Given the description of an element on the screen output the (x, y) to click on. 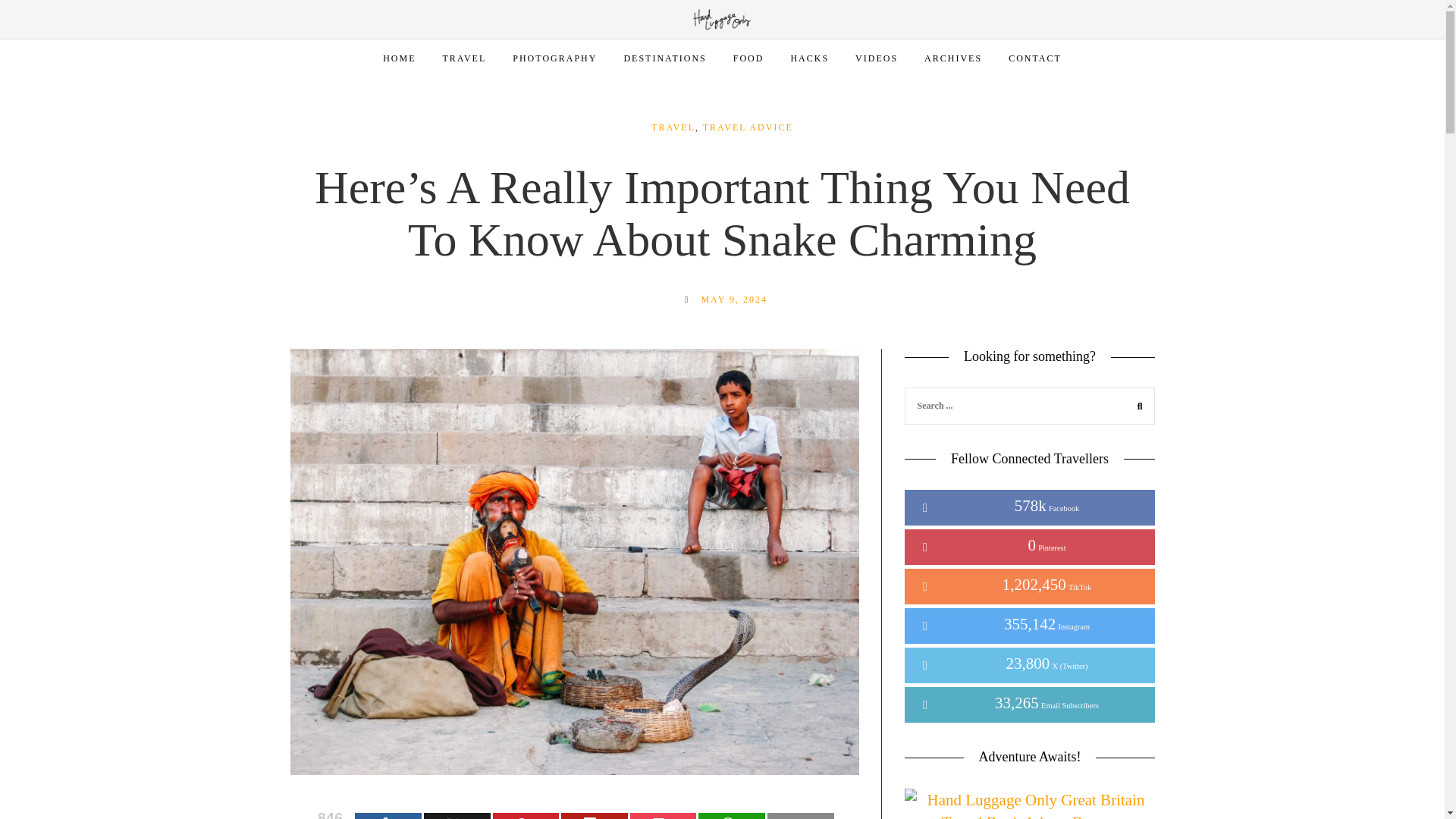
TRAVEL (464, 58)
May 9, 2024 (733, 299)
Hand Luggage Only (722, 18)
PHOTOGRAPHY (554, 58)
Search for : (1029, 405)
HOME (398, 58)
